Given the description of an element on the screen output the (x, y) to click on. 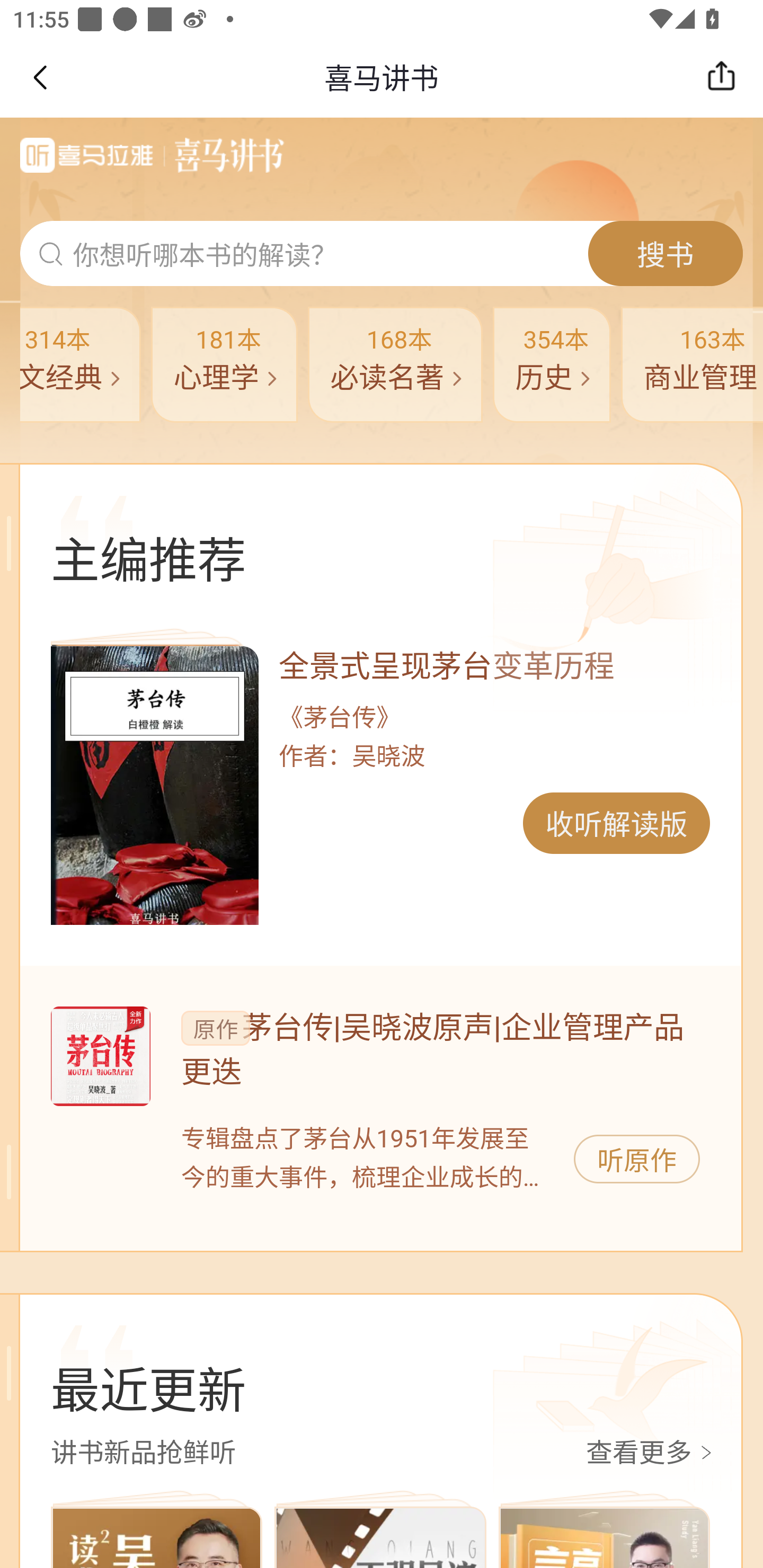
返回 (39, 77)
分享 (725, 77)
ic_search@3x 你想听哪本书的解读？ 搜书 (381, 253)
314本 人文经典 search_tab_go@3x (80, 364)
181本 心理学 search_tab_go@3x (225, 364)
168本 必读名著 search_tab_go@3x (394, 364)
354本 历史 search_tab_go@3x (551, 364)
163本 商业管理 search_tab_go@3x (691, 364)
wDMRKpPTcKyaAAAAABJRU5ErkJggg== 图片，按钮 (154, 785)
收听解读版 (615, 822)
图片，按钮 (100, 1055)
听原作 (636, 1158)
查看更多 切片 (651, 1453)
